Given the description of an element on the screen output the (x, y) to click on. 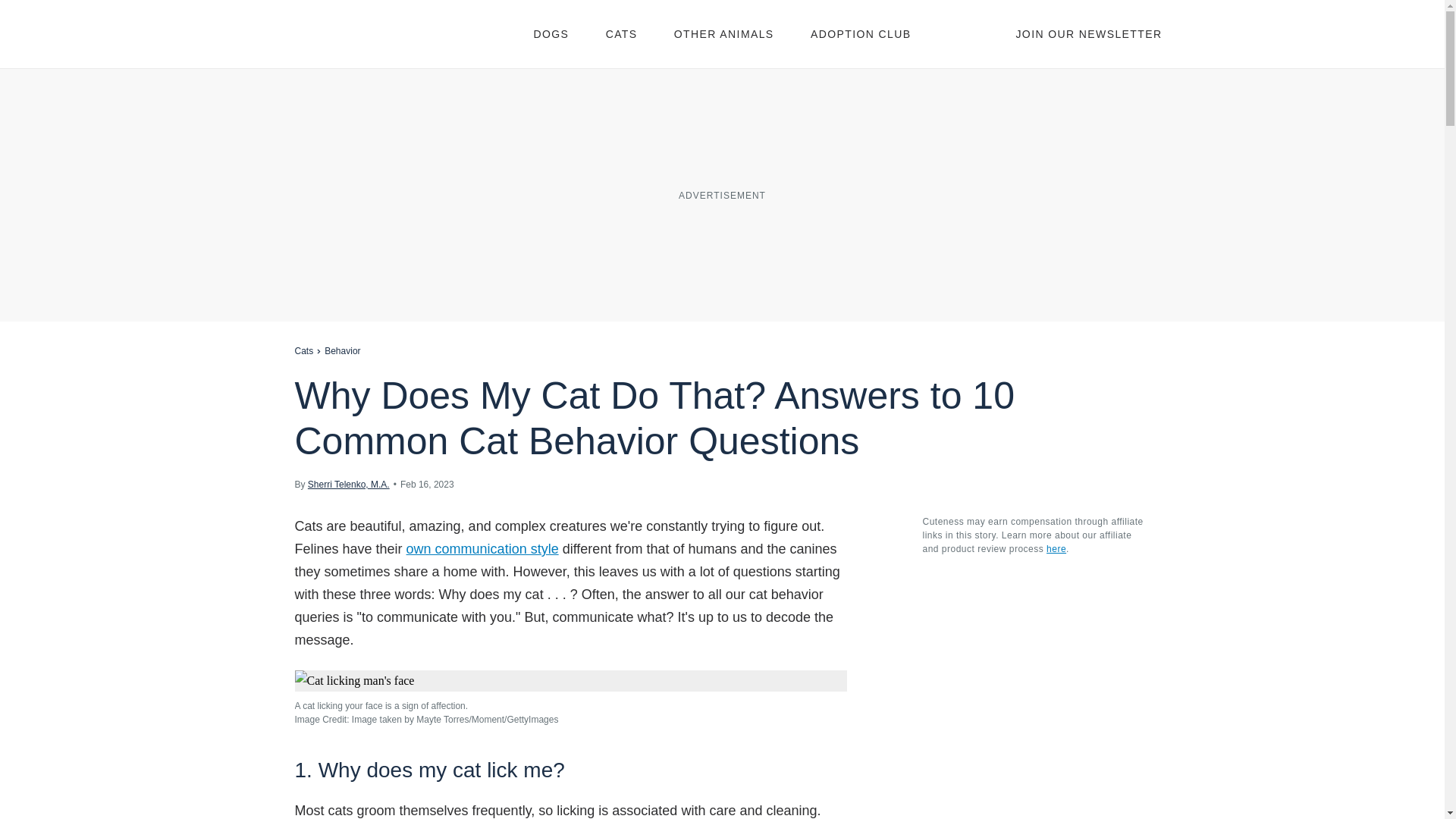
own communication style (482, 548)
JOIN OUR NEWSLETTER (1087, 33)
Cats (303, 350)
ADOPTION CLUB (860, 33)
Learn more about our affiliate and product review process (1055, 548)
Sherri Telenko, M.A. (348, 484)
Behavior (341, 350)
